Given the description of an element on the screen output the (x, y) to click on. 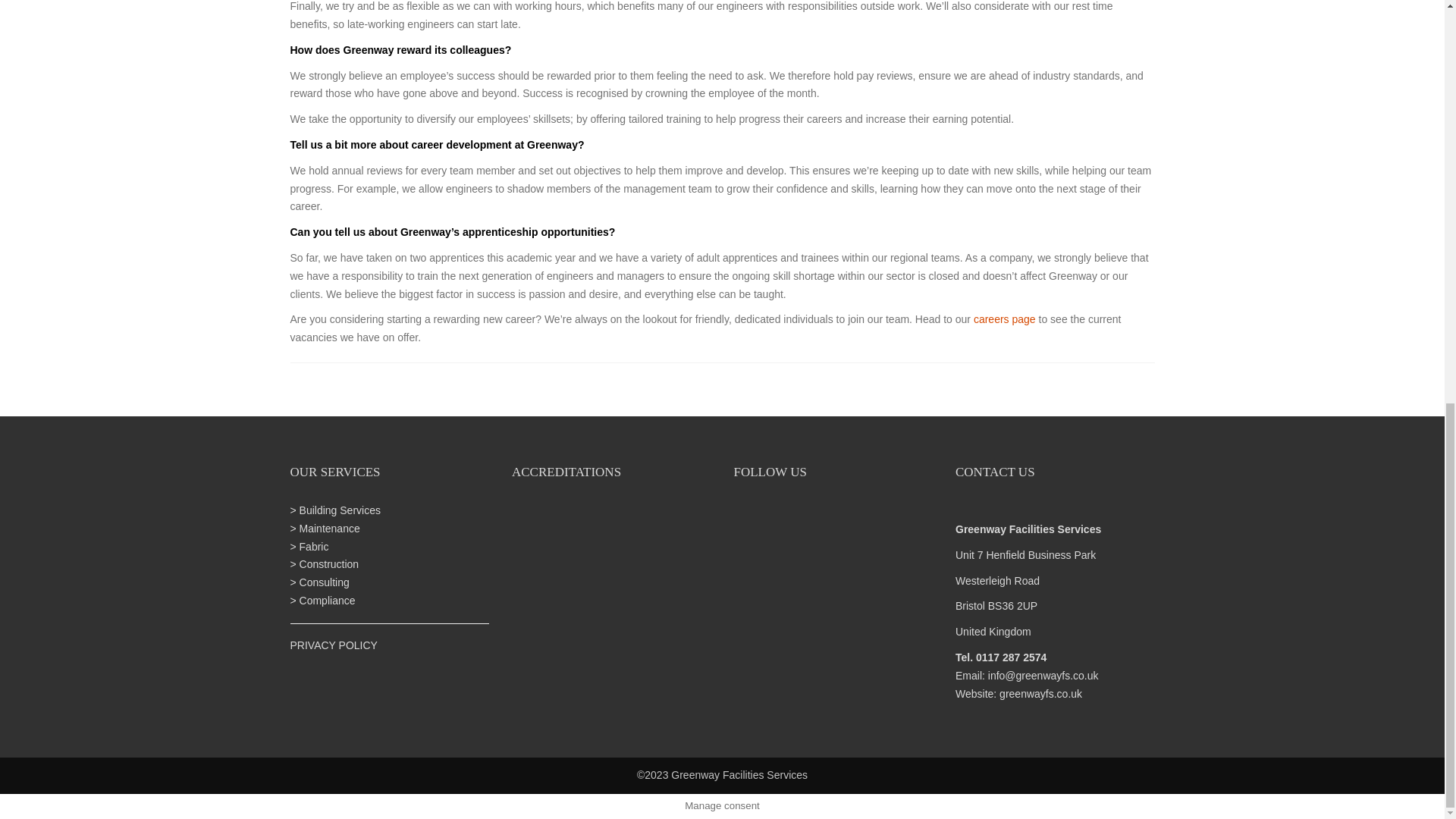
greenwayfs.co.uk (1039, 693)
Tel. 0117 287 2574 (1000, 657)
PRIVACY POLICY (333, 645)
careers page (1004, 318)
